Given the description of an element on the screen output the (x, y) to click on. 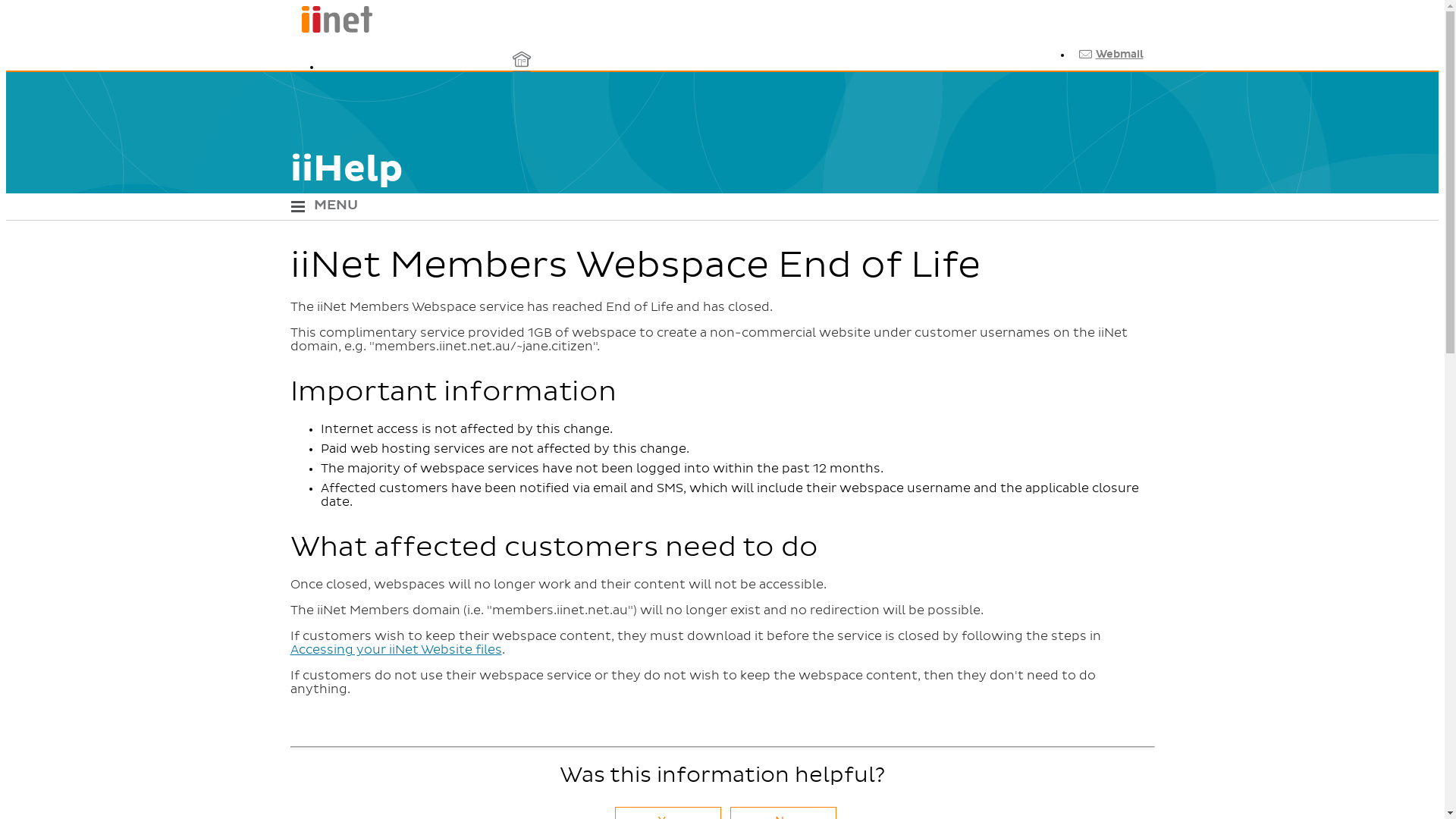
Accessing your iiNet Website files Element type: text (395, 649)
Customers Element type: text (520, 138)
Webmail Element type: text (1108, 54)
Toolbox Element type: text (1104, 79)
Residential Element type: text (520, 64)
Home Element type: hover (330, 29)
Skip to main content Element type: text (722, 7)
Business Element type: text (520, 101)
